Given the description of an element on the screen output the (x, y) to click on. 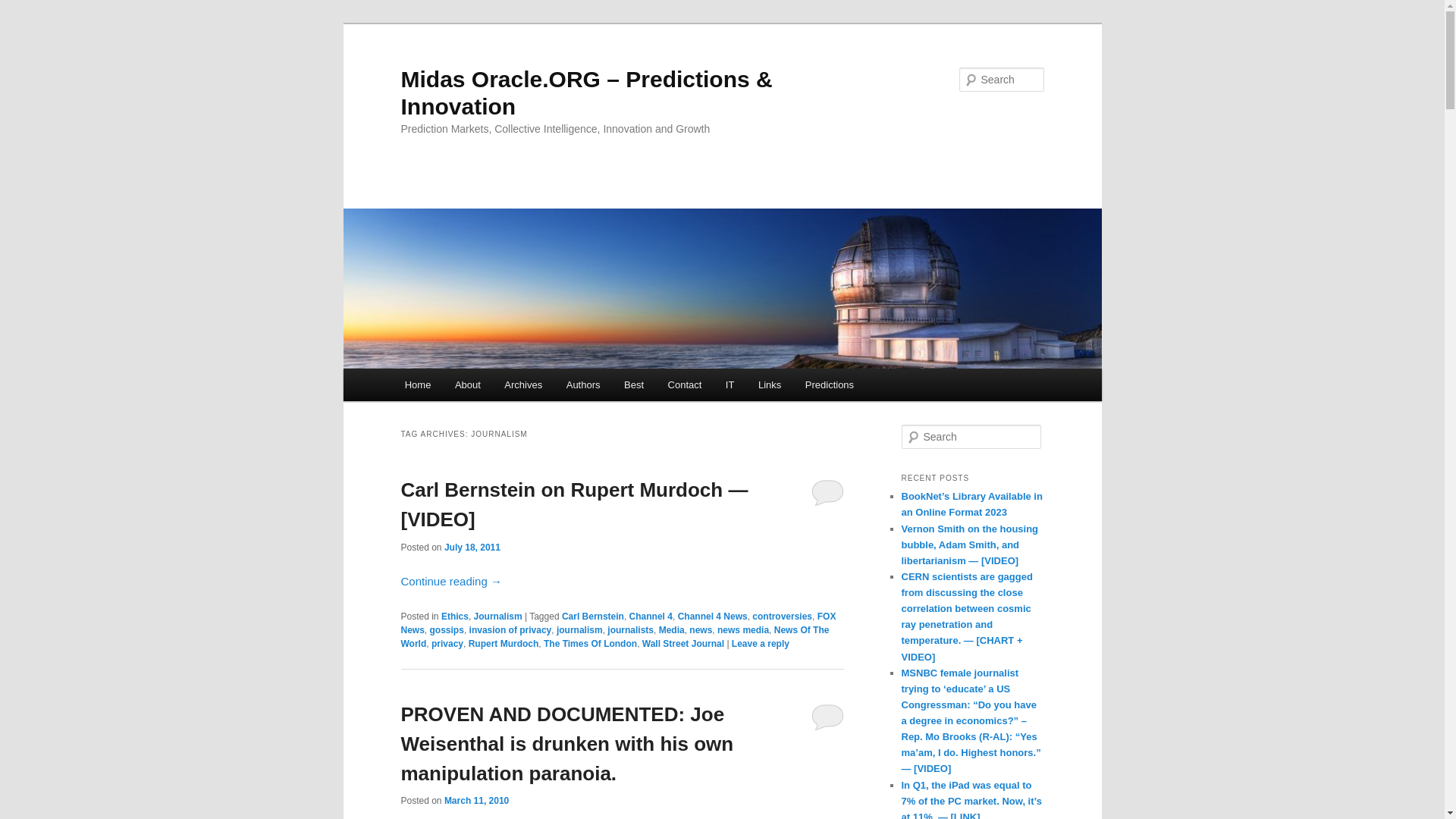
Channel 4 News (713, 615)
Search (24, 8)
10:02 pm (472, 547)
Carl Bernstein (593, 615)
July 18, 2011 (472, 547)
Skip to primary content (472, 387)
Skip to secondary content (479, 387)
gossips (446, 629)
Contact (684, 384)
Links (769, 384)
